Given the description of an element on the screen output the (x, y) to click on. 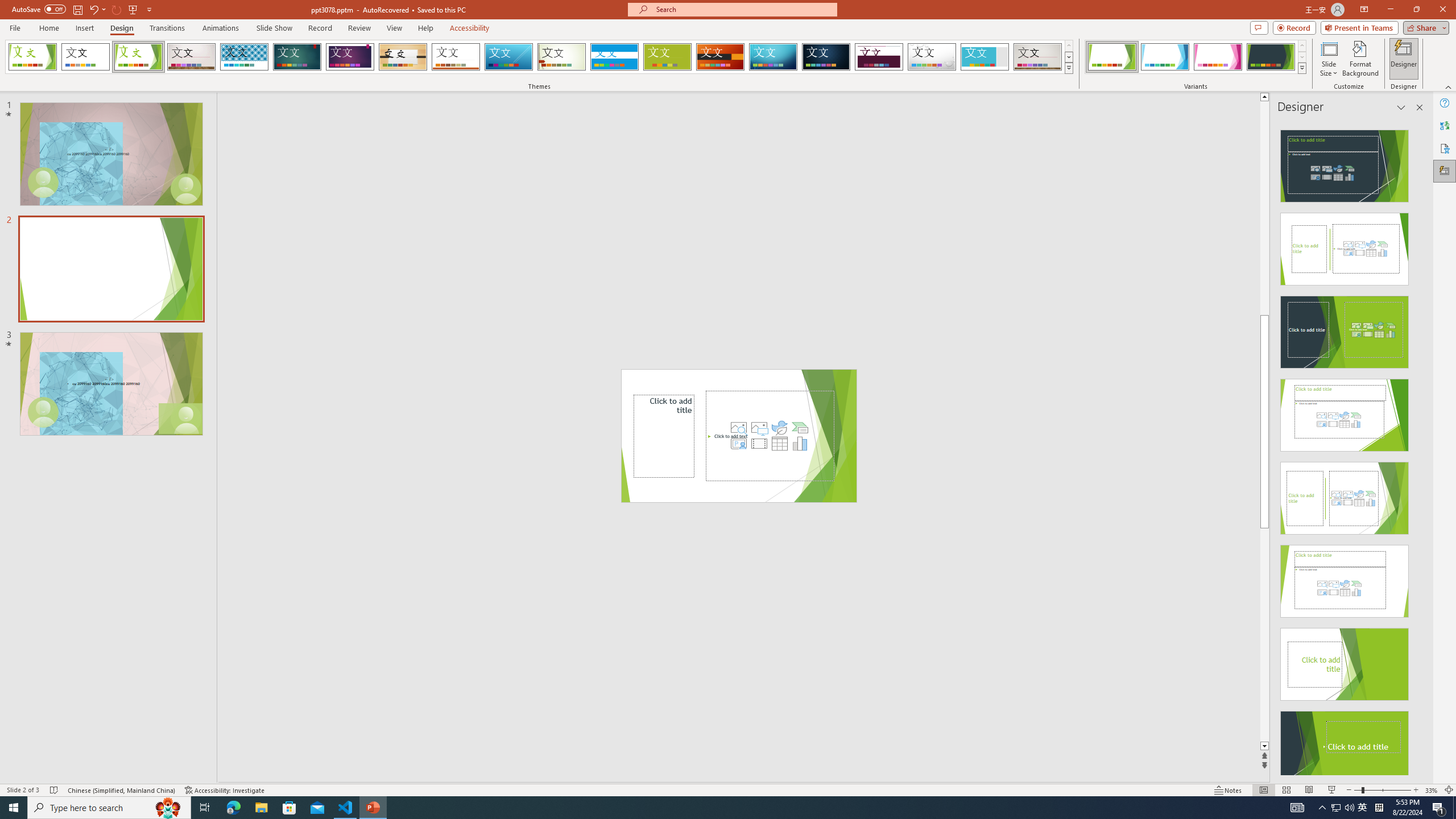
Facet Variant 1 (1112, 56)
Format Background (1360, 58)
Wisp (561, 56)
Class: NetUIScrollBar (1418, 447)
Insert Chart (799, 443)
Stock Images (738, 427)
Facet Variant 2 (1164, 56)
